Given the description of an element on the screen output the (x, y) to click on. 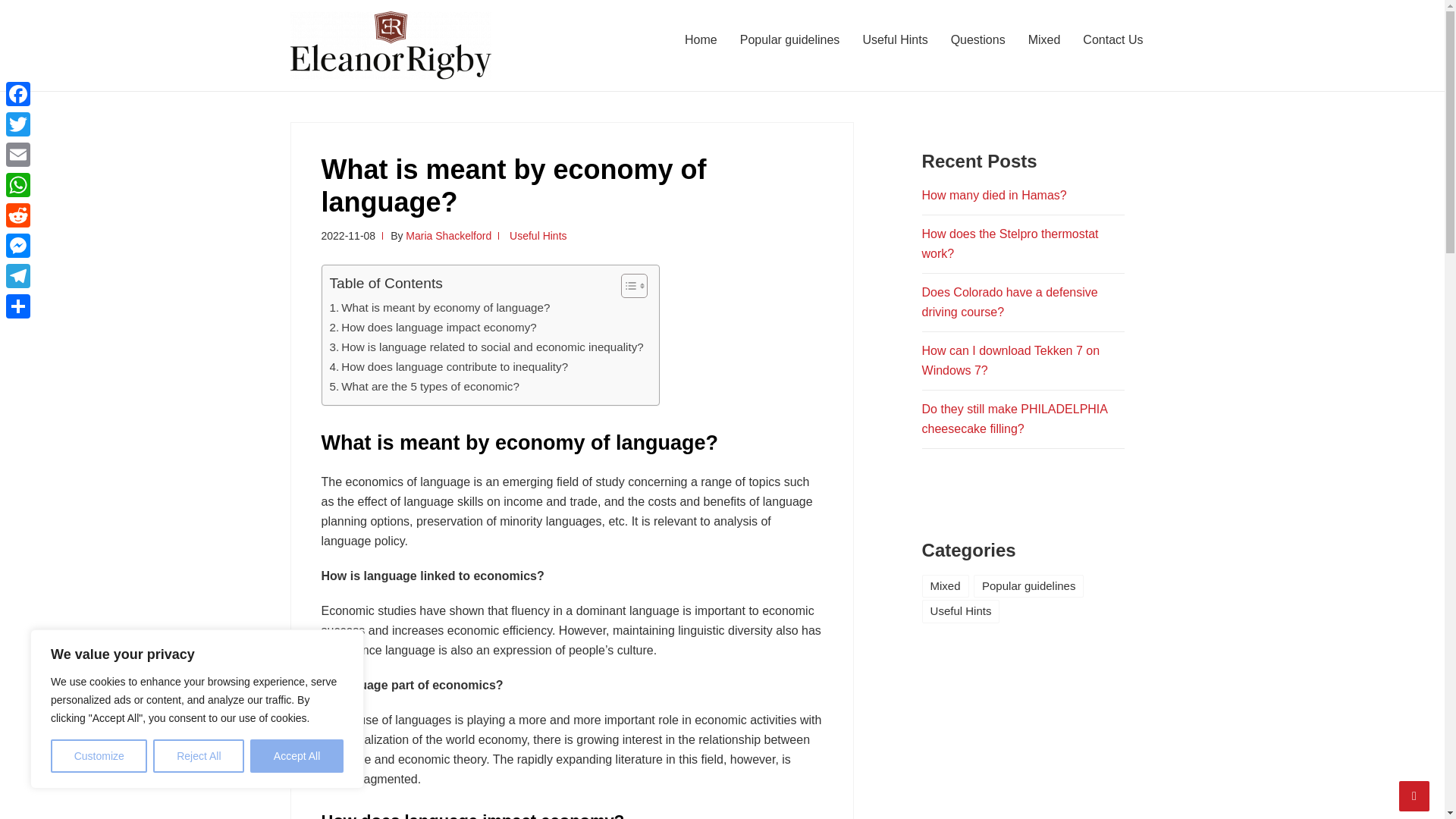
Contact Us (1112, 39)
How is language related to social and economic inequality? (486, 347)
What are the 5 types of economic? (423, 386)
What is meant by economy of language? (439, 307)
Maria Shackelford (449, 235)
How does language contribute to inequality? (448, 366)
Reddit (17, 214)
How does language impact economy? (432, 327)
Accept All (296, 756)
How does language impact economy? (432, 327)
What are the 5 types of economic? (423, 386)
Home (700, 39)
Customize (98, 756)
How is language related to social and economic inequality? (486, 347)
Questions (977, 39)
